Given the description of an element on the screen output the (x, y) to click on. 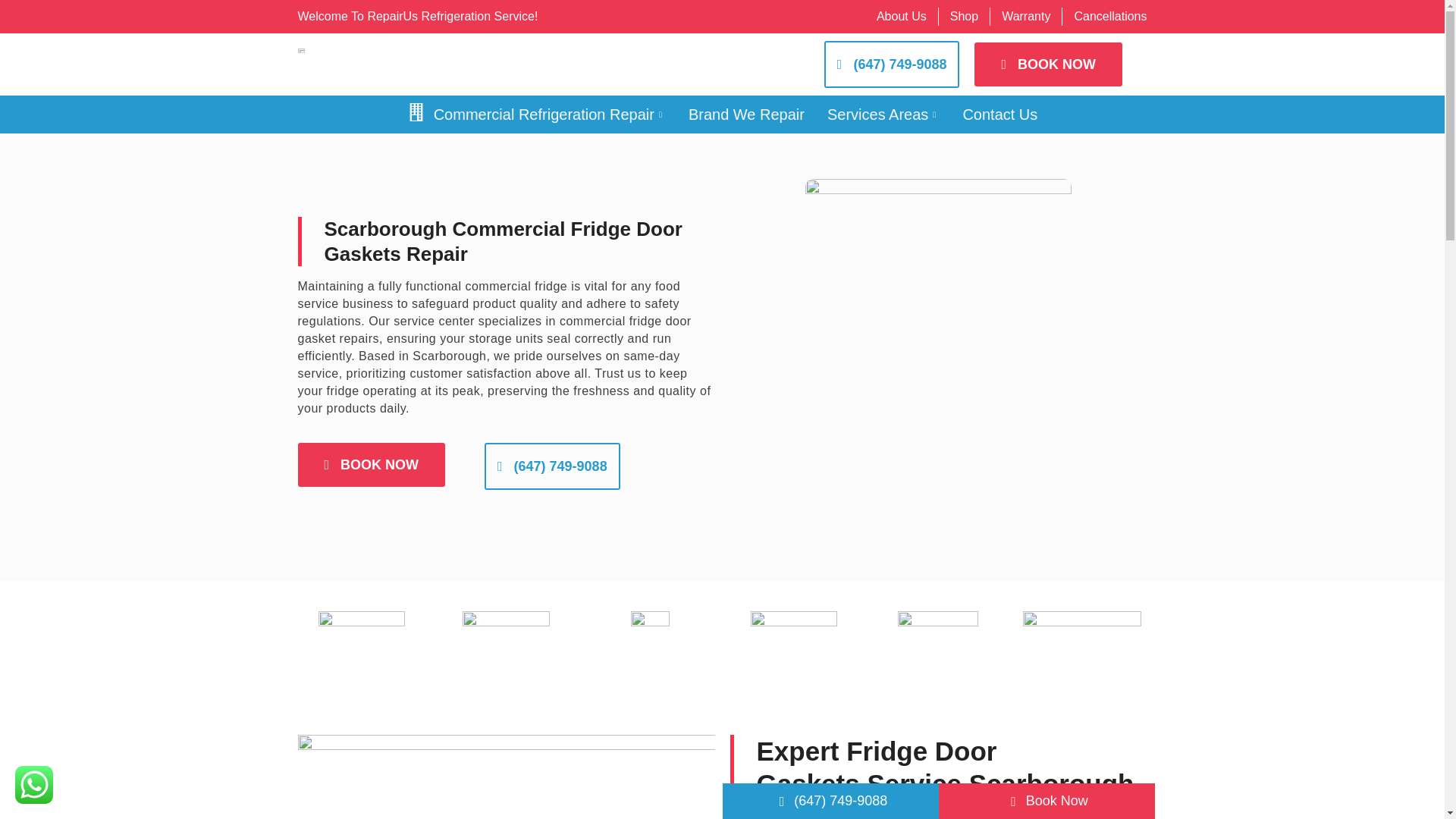
Warranty (1025, 16)
Brand We Repair (746, 114)
About Us (901, 16)
Services Areas (882, 114)
BOOK NOW (1048, 64)
Cancellations (1110, 16)
Shop (964, 16)
Commercial Refrigeration Repair (536, 114)
